Given the description of an element on the screen output the (x, y) to click on. 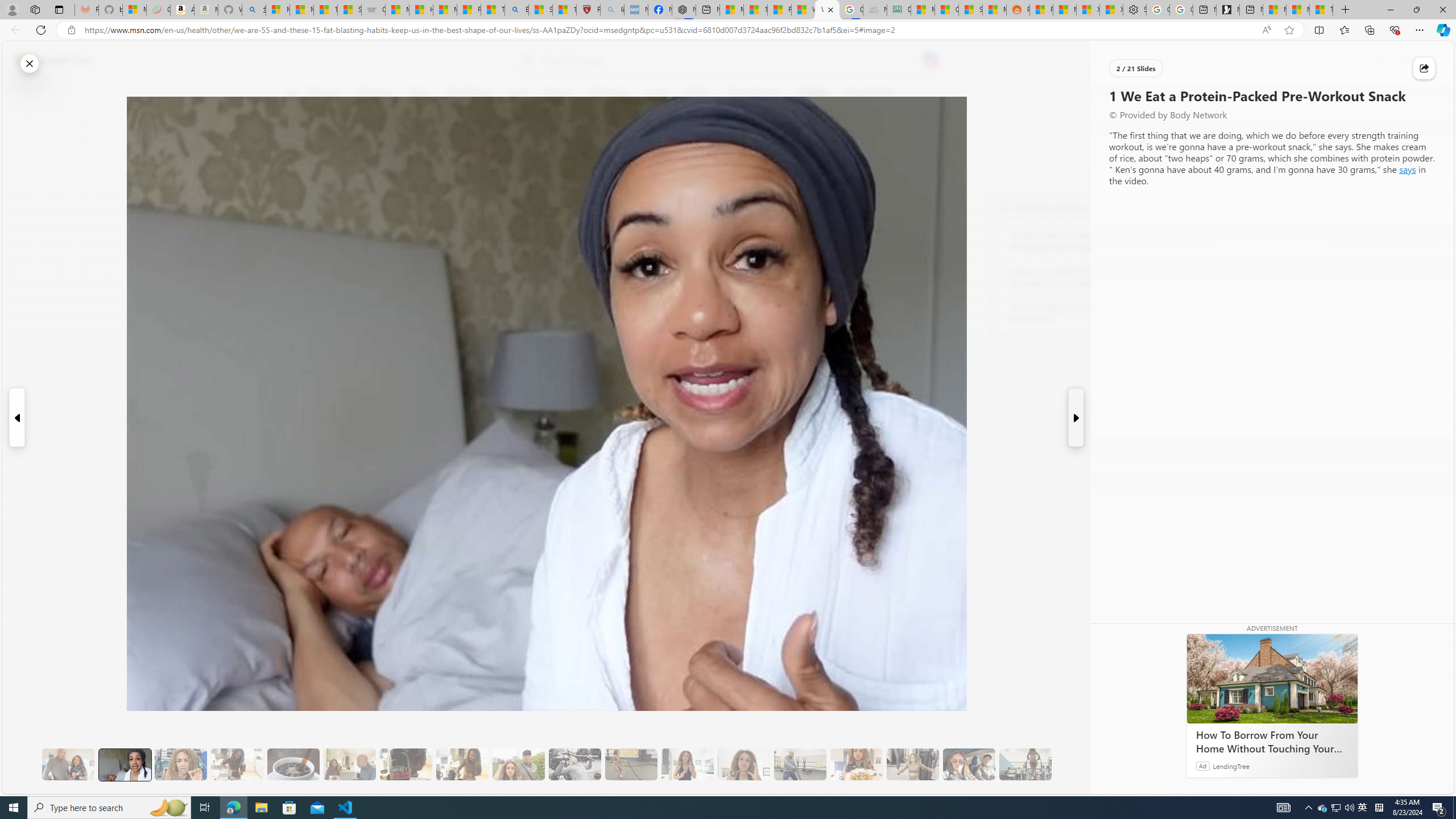
How To Borrow From Your Home Without Touching Your Mortgage (1271, 741)
6 Since Eating More Protein Her Training Has Improved (406, 764)
Crime (657, 92)
13 Her Husband Does Group Cardio Classs (800, 764)
9 They Do Bench Exercises (574, 764)
These 3 Stocks Pay You More Than 5% to Own Them (1321, 9)
8 They Walk to the Gym (518, 764)
Science - MSN (540, 9)
3 They Drink Lemon Tea (237, 764)
Lifestyle (812, 92)
